Given the description of an element on the screen output the (x, y) to click on. 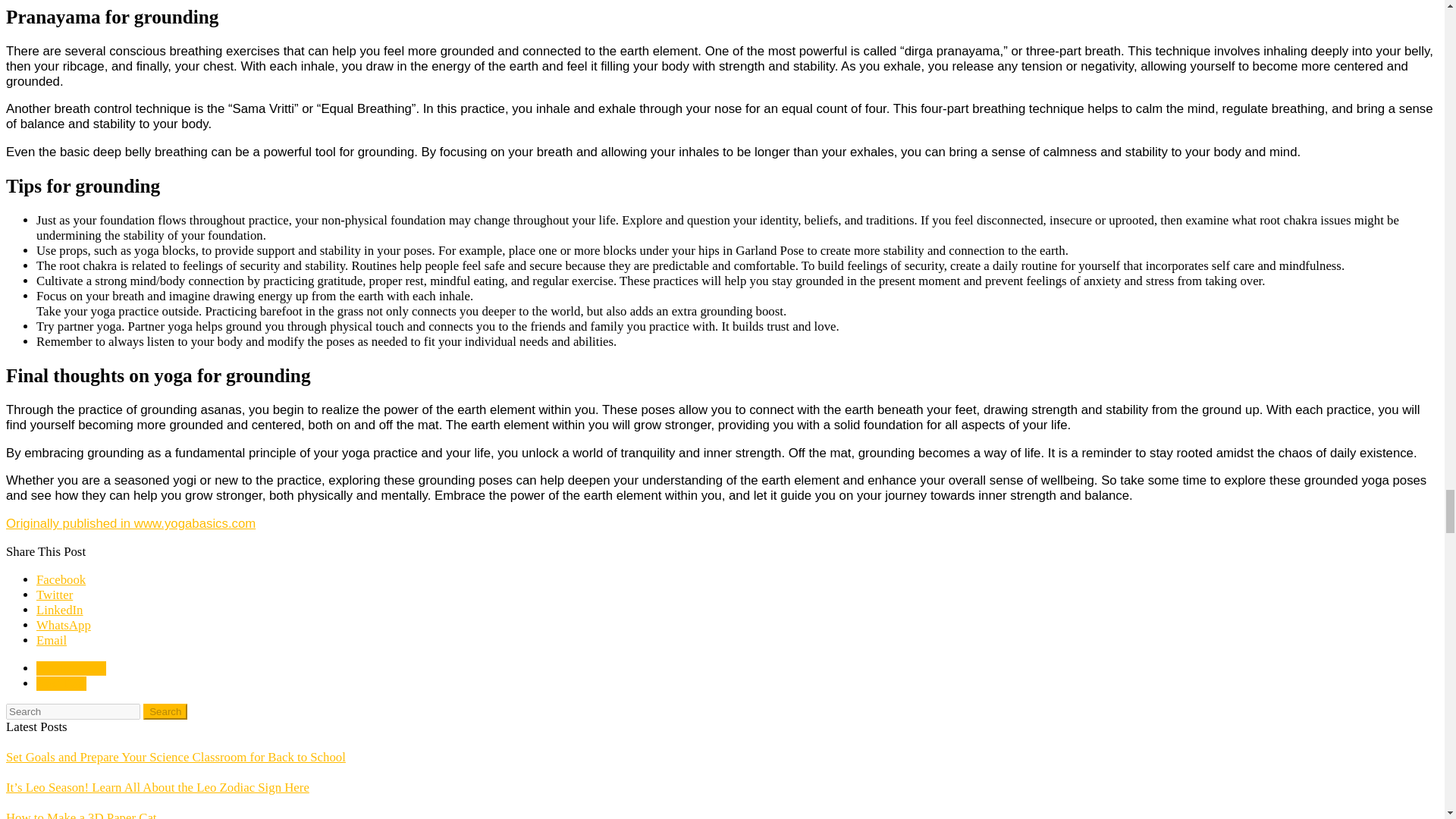
Twitter (54, 594)
Search (164, 711)
Facebook (60, 579)
Email (51, 640)
Next Post (60, 683)
WhatsApp (63, 625)
Previous Post (71, 667)
Originally published in www.yogabasics.com (130, 523)
LinkedIn (59, 609)
How to Make a 3D Paper Cat (81, 814)
